Given the description of an element on the screen output the (x, y) to click on. 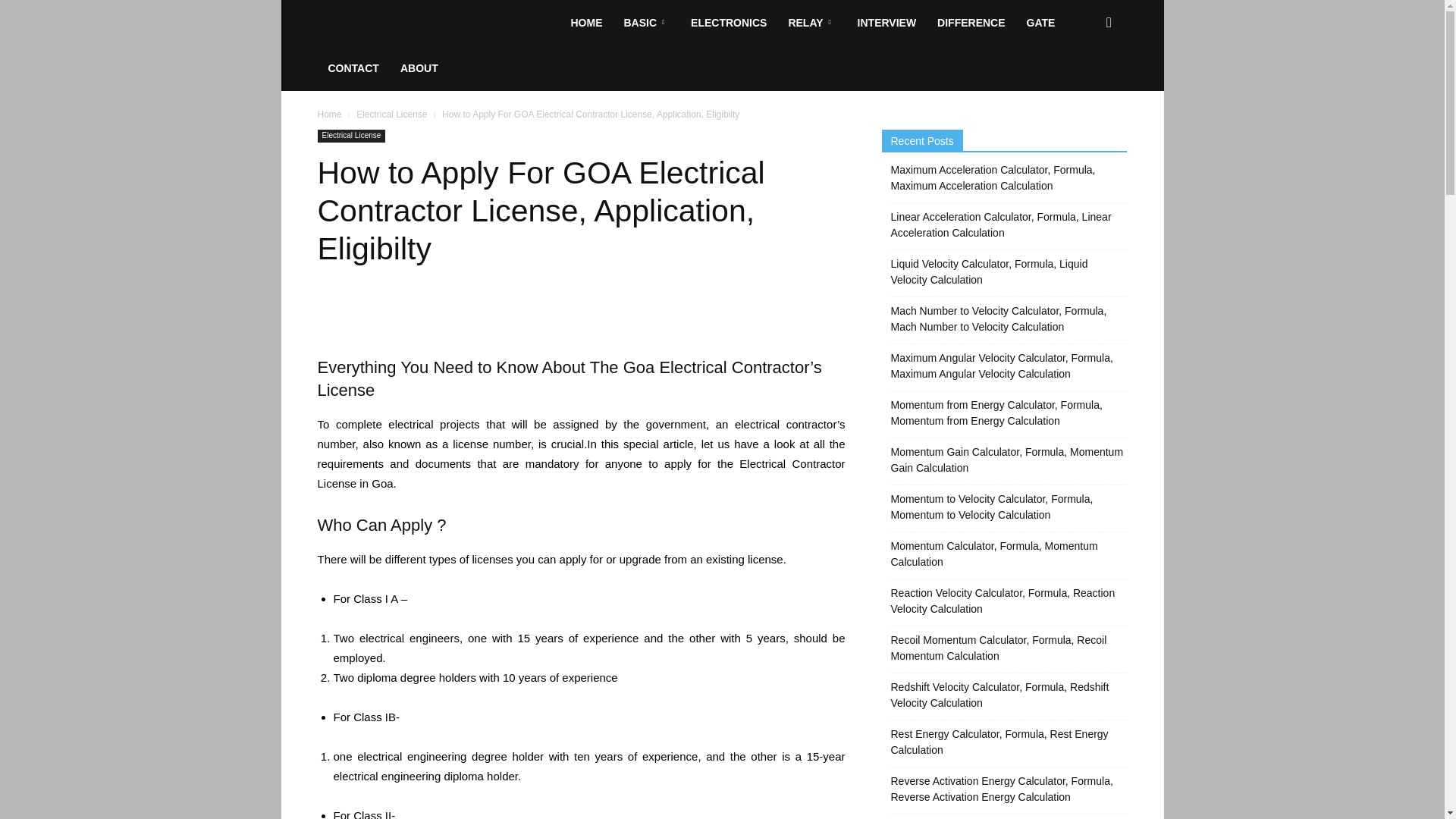
INTERVIEW (887, 22)
HOME (585, 22)
RELAY (811, 22)
Electrical4u (438, 22)
CONTACT (352, 67)
GATE (1040, 22)
ABOUT (419, 67)
DIFFERENCE (970, 22)
BASIC (645, 22)
View all posts in Electrical License (391, 113)
ELECTRONICS (728, 22)
